Given the description of an element on the screen output the (x, y) to click on. 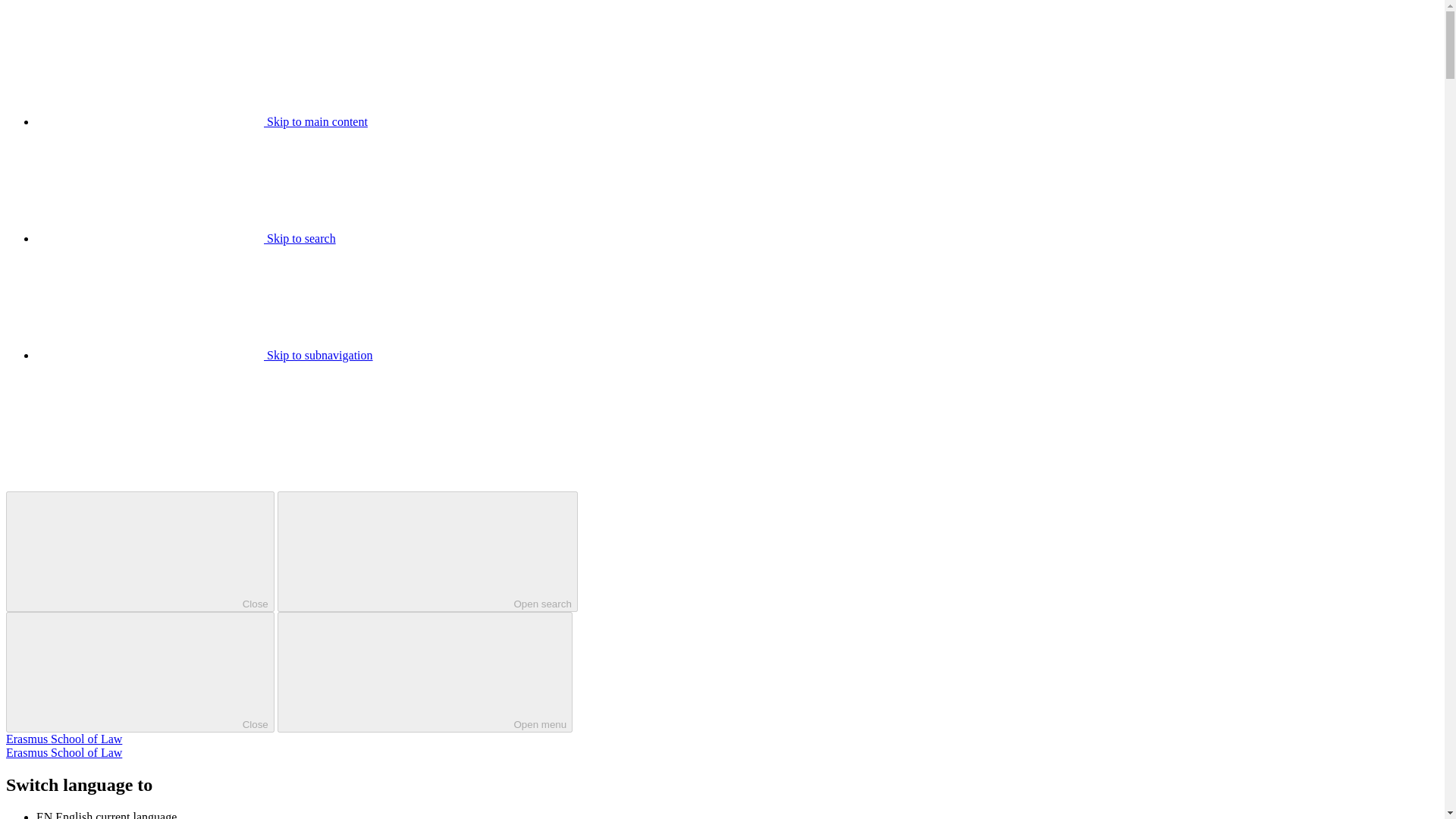
Open search (428, 551)
Skip to main content (202, 121)
Skip to search (186, 237)
Close (140, 551)
Open menu (425, 671)
Skip to subnavigation (204, 354)
Close (140, 671)
Erasmus School of Law (63, 752)
Erasmus School of Law (63, 738)
